Given the description of an element on the screen output the (x, y) to click on. 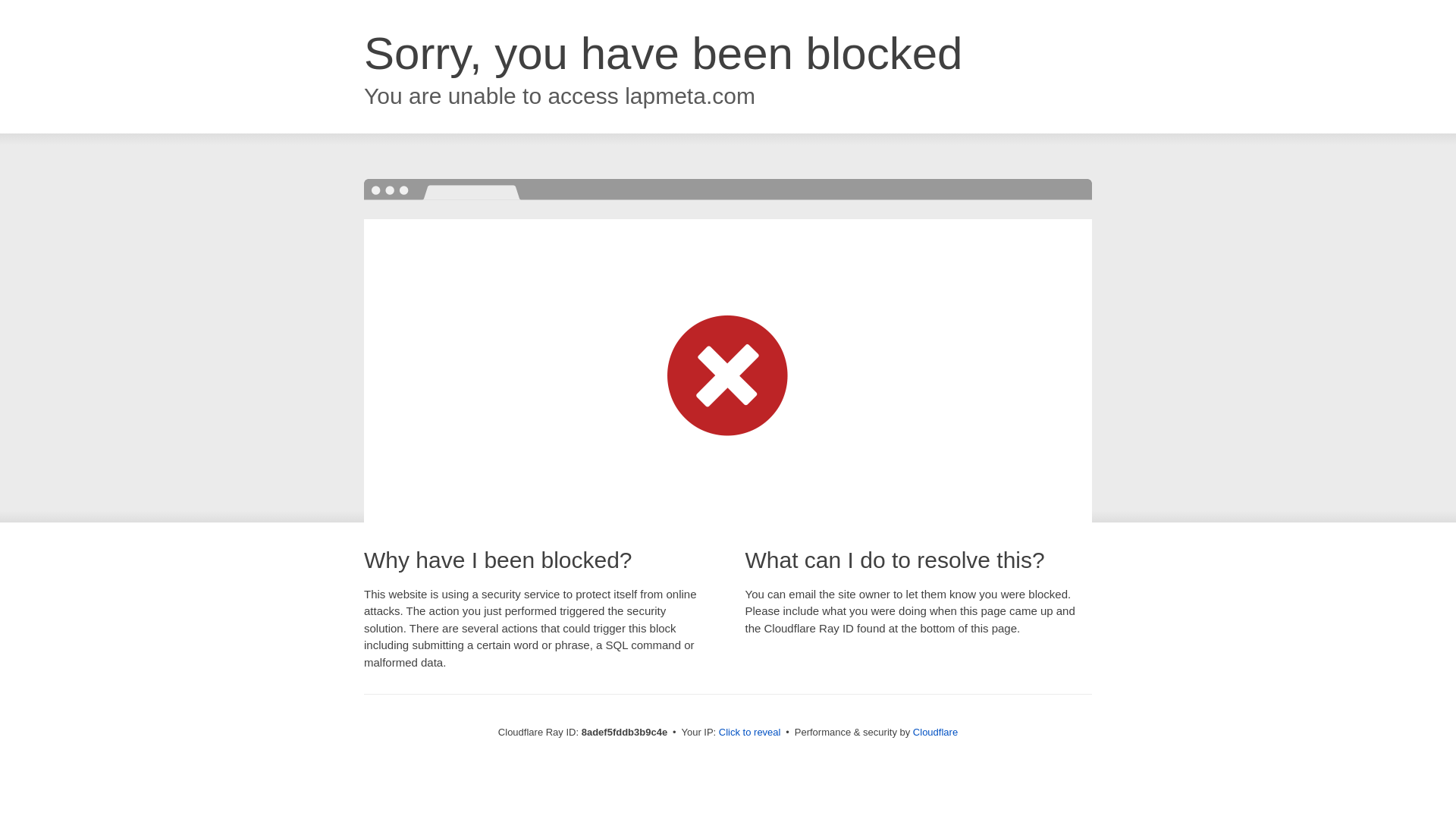
Click to reveal (749, 732)
Cloudflare (935, 731)
